Given the description of an element on the screen output the (x, y) to click on. 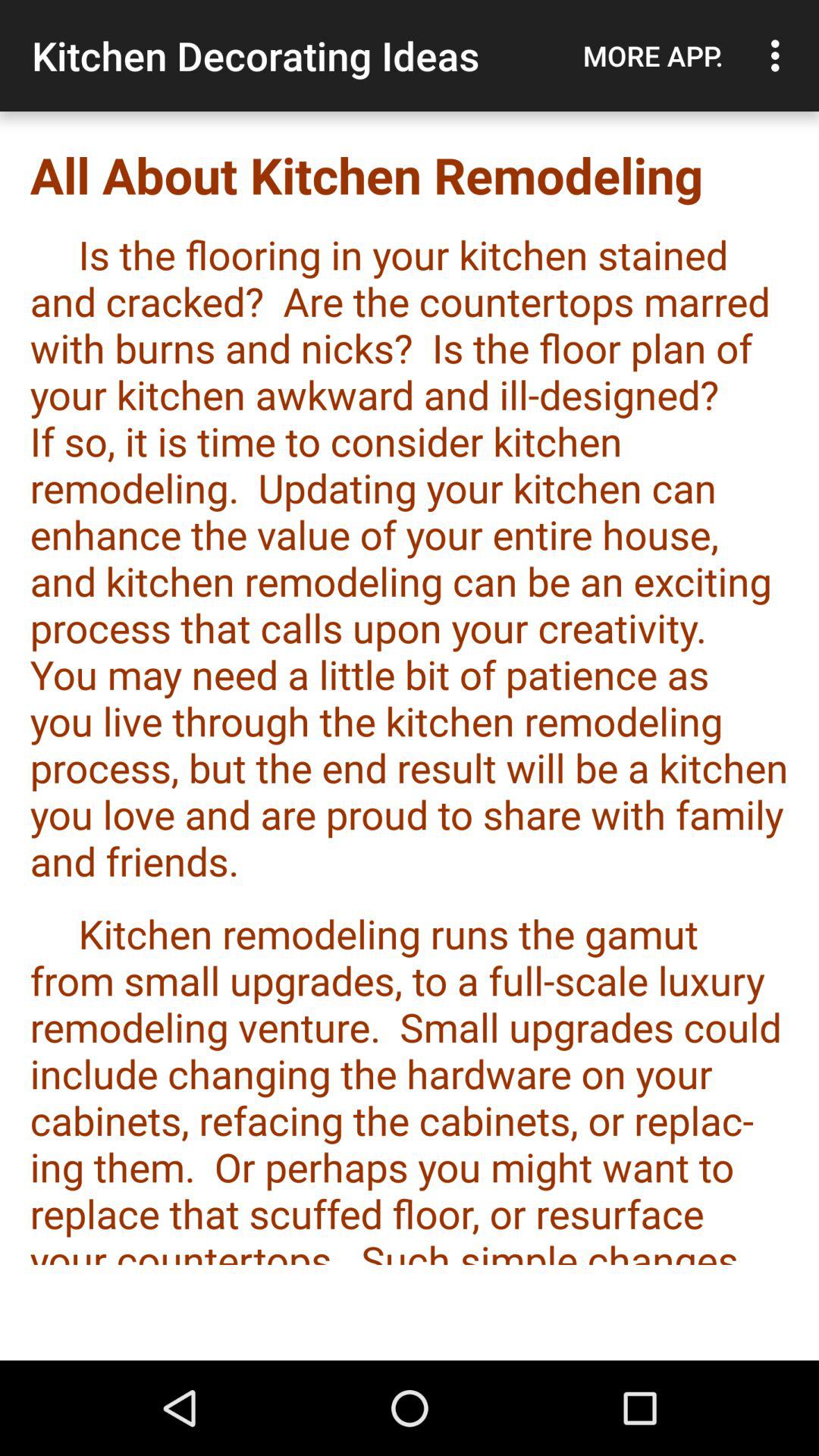
launch icon above all about kitchen (779, 55)
